Given the description of an element on the screen output the (x, y) to click on. 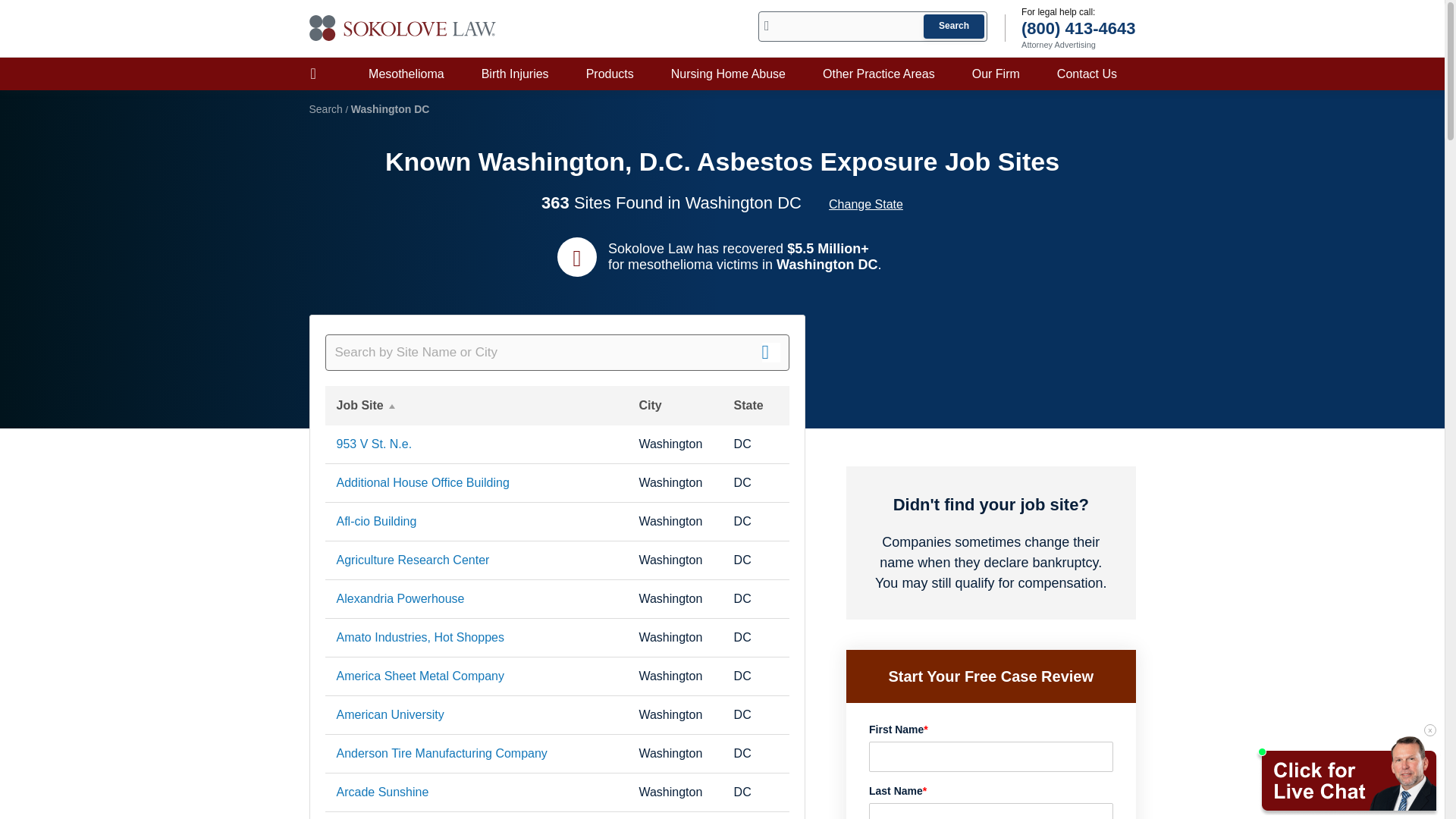
Sokolove Law (402, 27)
Birth Injuries (515, 73)
Search SokoloveLaw.com (872, 26)
Search (953, 26)
Mesothelioma (406, 73)
Mesothelioma (406, 73)
